Given the description of an element on the screen output the (x, y) to click on. 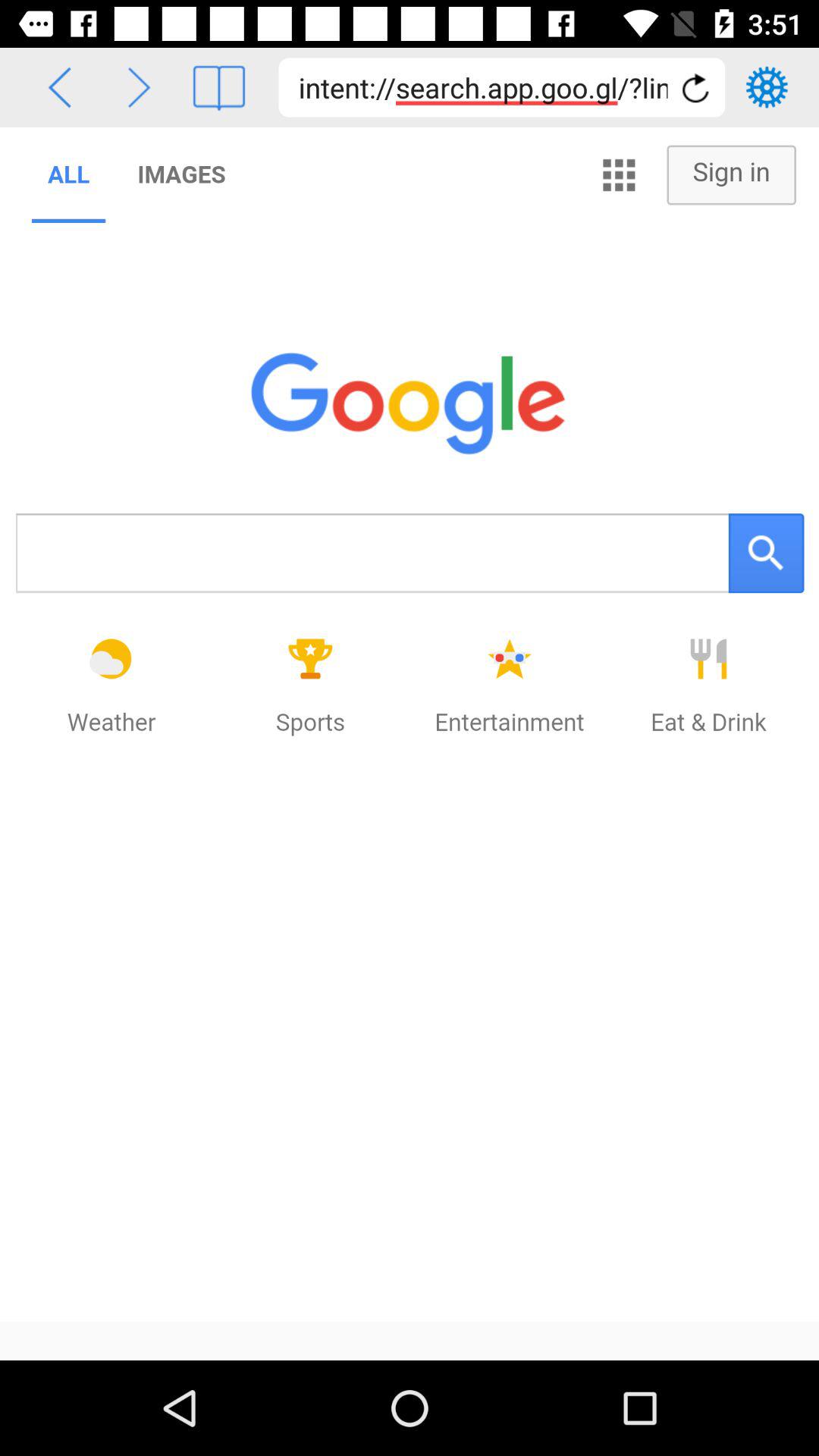
settings (766, 87)
